Given the description of an element on the screen output the (x, y) to click on. 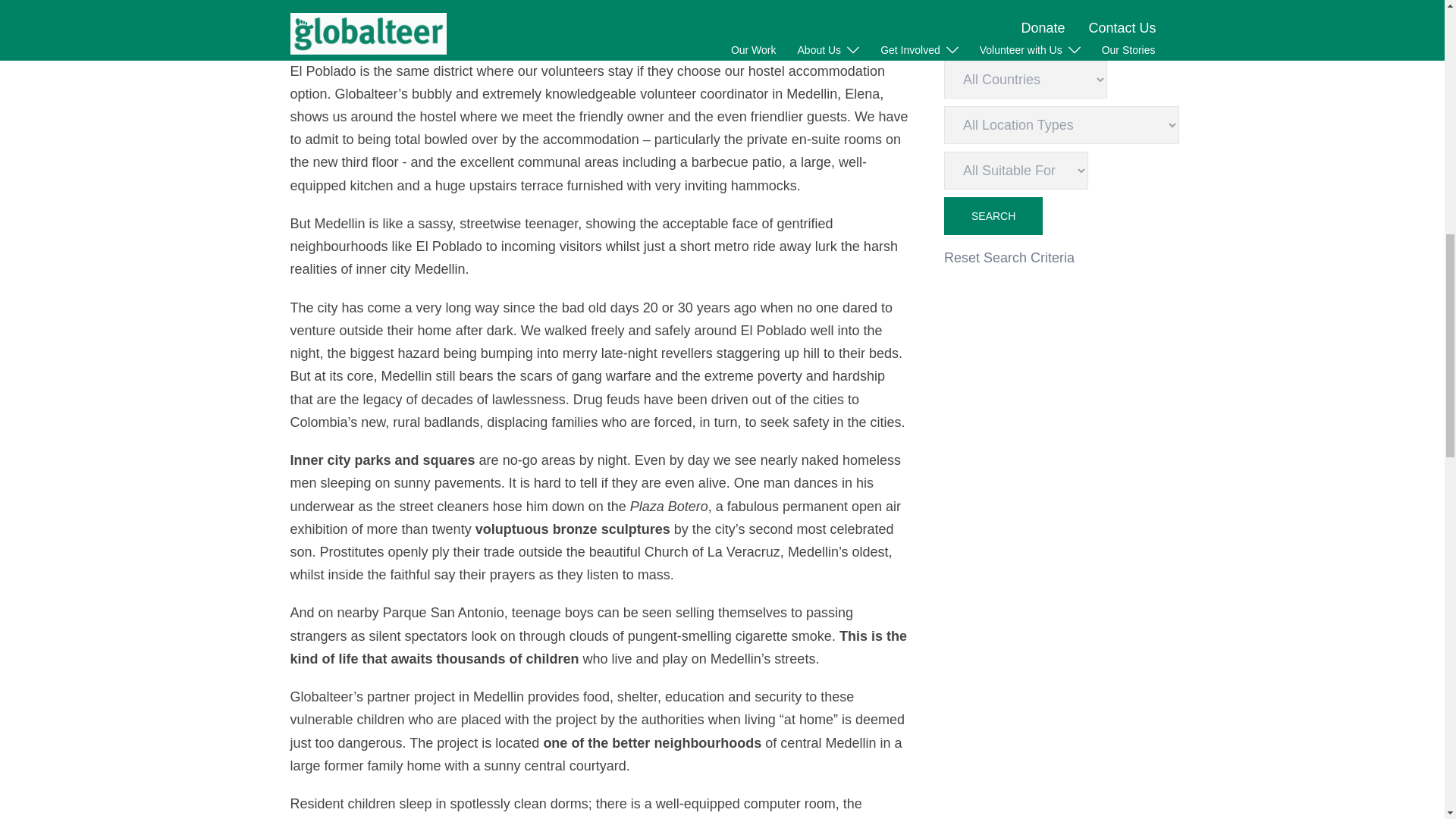
Search (992, 216)
